Given the description of an element on the screen output the (x, y) to click on. 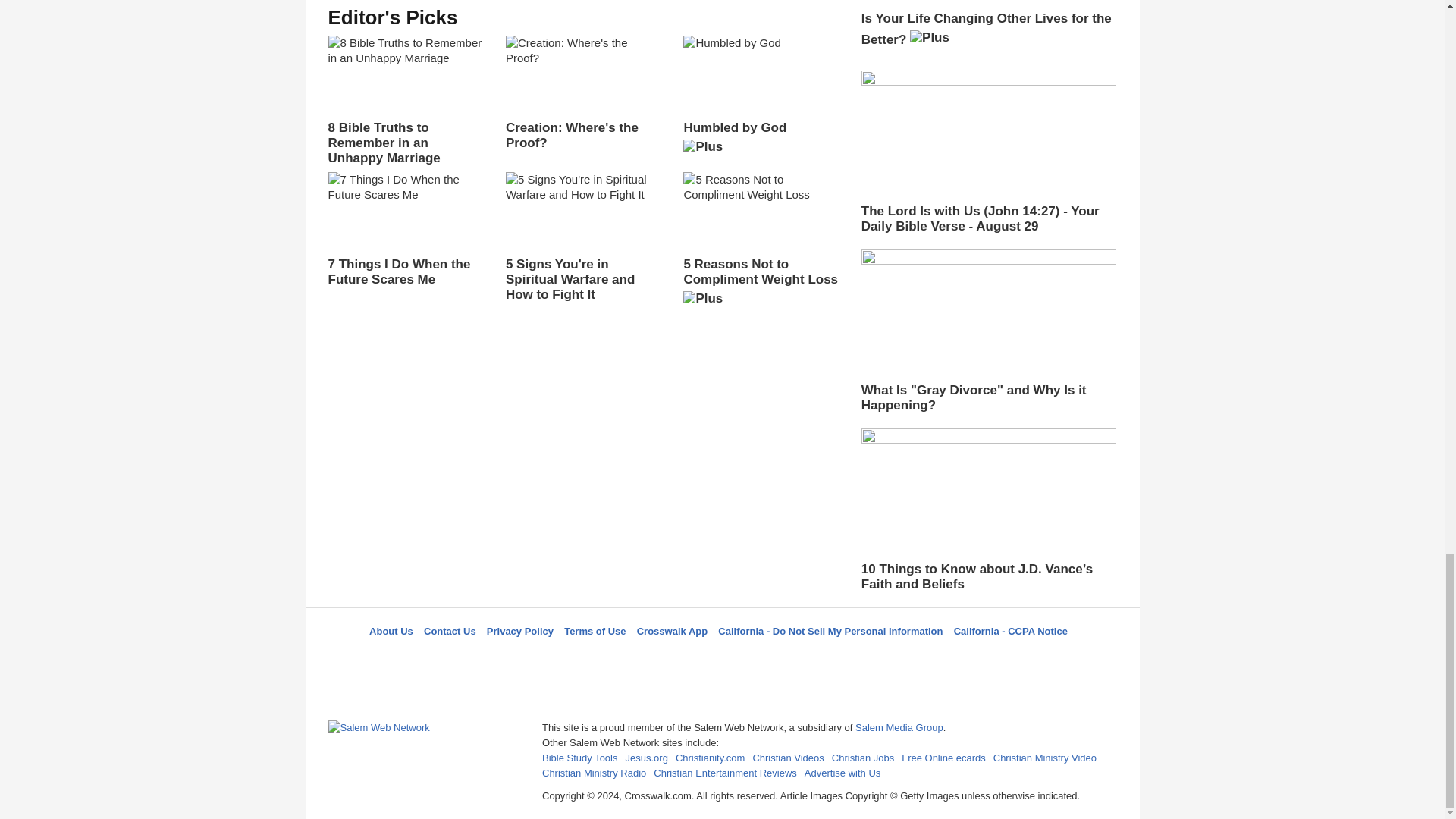
5 Reasons Not to Compliment Weight Loss (760, 243)
8 Bible Truths to Remember in an Unhappy Marriage (404, 101)
Pinterest (757, 658)
Facebook (645, 658)
Creation: Where's the Proof? (583, 93)
LifeAudio (719, 658)
Humbled by God (760, 100)
7 Things I Do When the Future Scares Me (404, 229)
5 Signs You're in Spiritual Warfare and How to Fight It (583, 236)
Twitter (683, 658)
